Given the description of an element on the screen output the (x, y) to click on. 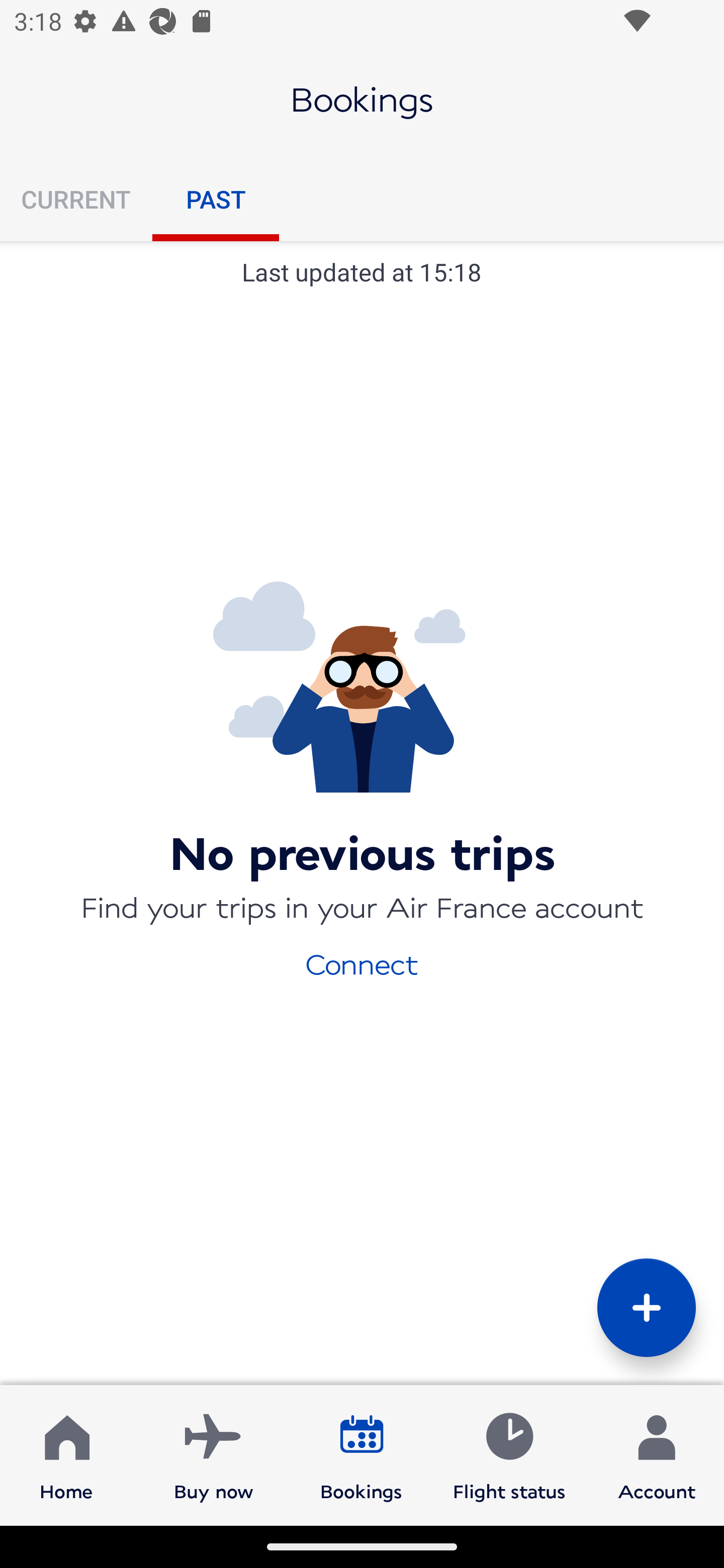
CURRENT (76, 198)
Connect (361, 963)
Home (66, 1454)
Buy now (213, 1454)
Flight status (509, 1454)
Account (657, 1454)
